Given the description of an element on the screen output the (x, y) to click on. 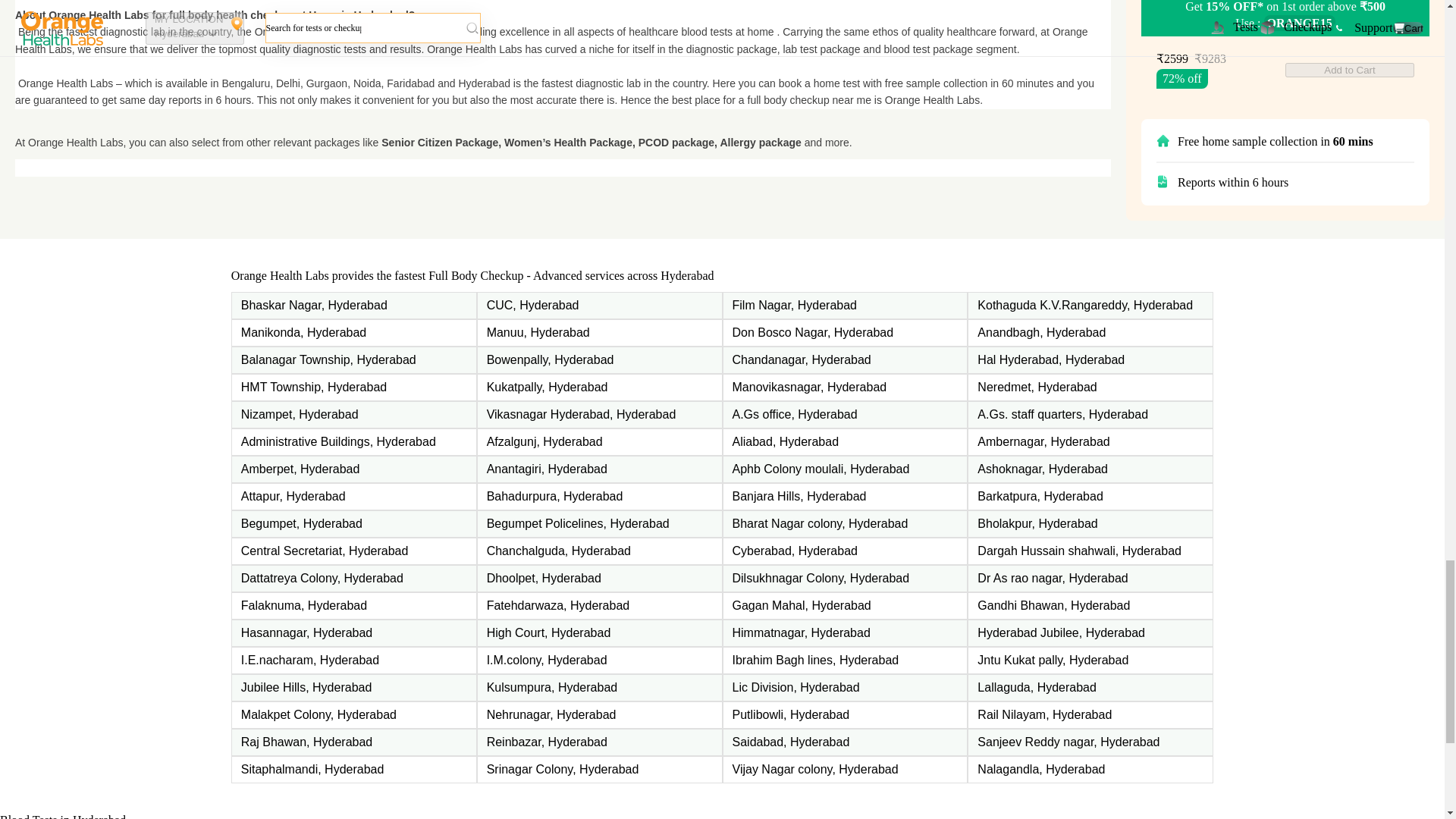
blood tests at home (727, 31)
PCOD package (676, 142)
fastest diagnostic lab (115, 31)
full body checkup near me (809, 100)
Allergy package (759, 142)
Senior Citizen Package (439, 142)
